Given the description of an element on the screen output the (x, y) to click on. 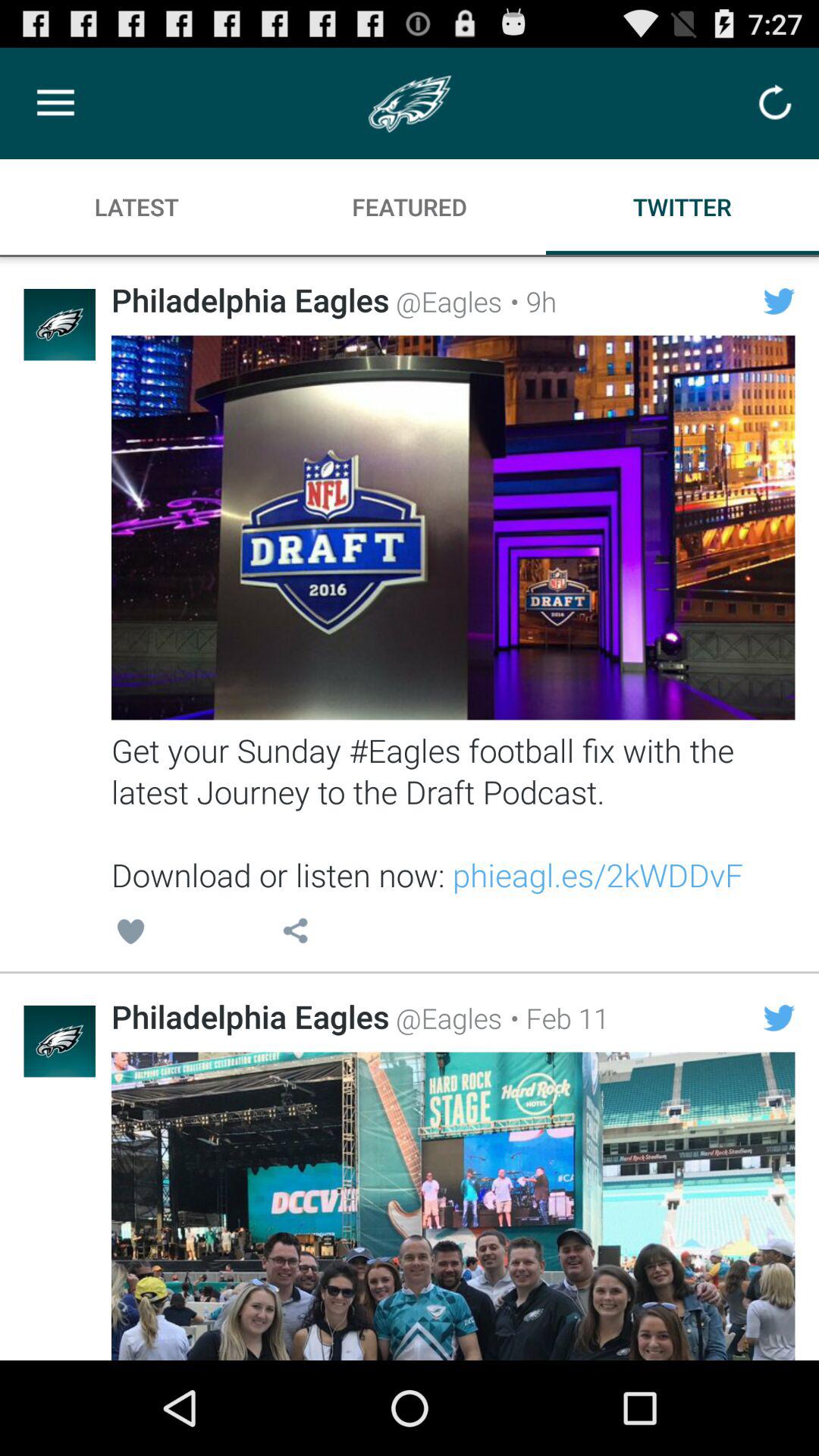
turn on icon above philadelphia eagles item (295, 933)
